Given the description of an element on the screen output the (x, y) to click on. 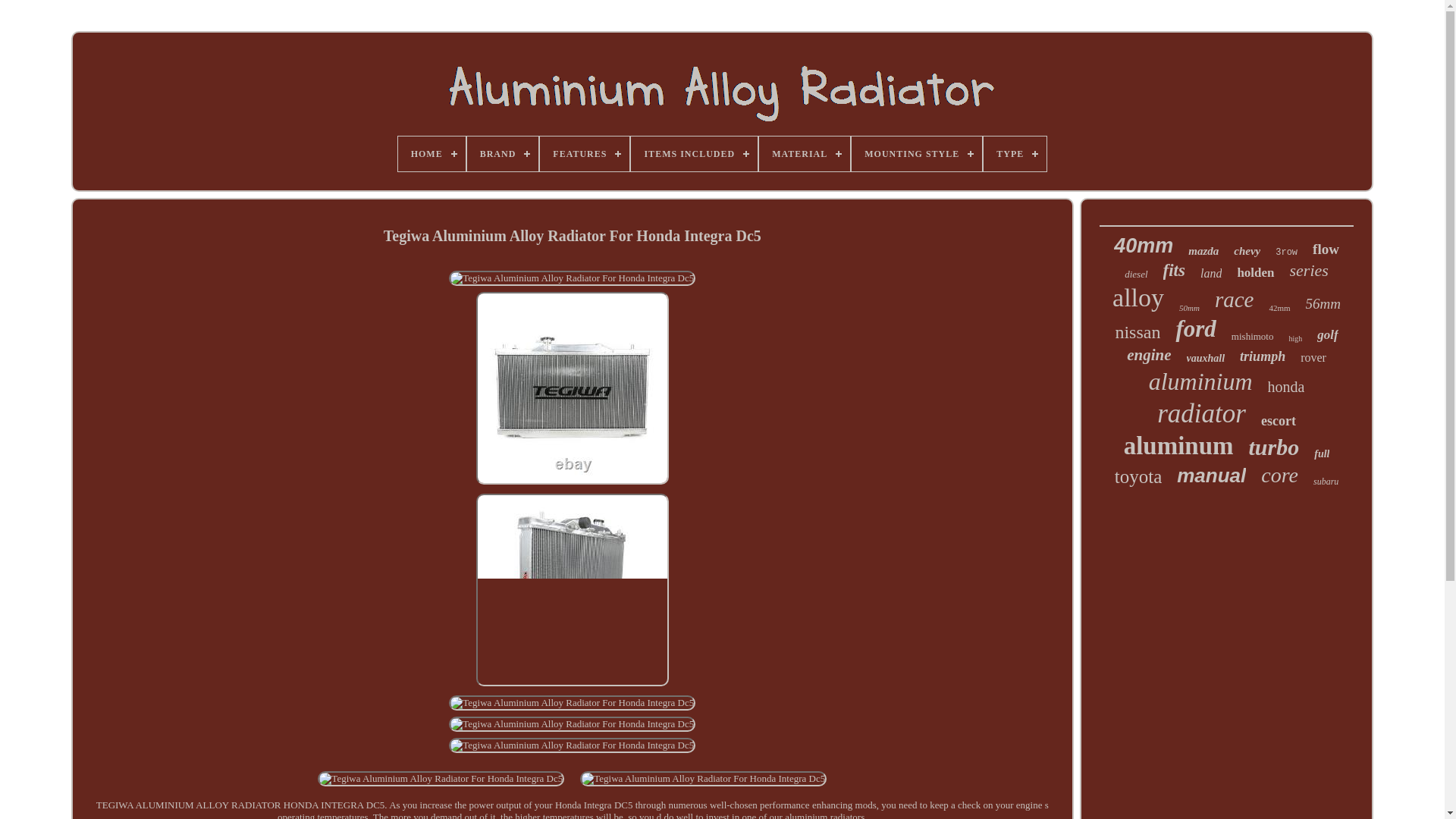
Tegiwa Aluminium Alloy Radiator For Honda Integra Dc5 (571, 744)
FEATURES (584, 153)
Tegiwa Aluminium Alloy Radiator For Honda Integra Dc5 (571, 278)
Tegiwa Aluminium Alloy Radiator For Honda Integra Dc5 (571, 724)
HOME (431, 153)
Tegiwa Aluminium Alloy Radiator For Honda Integra Dc5 (571, 702)
Tegiwa Aluminium Alloy Radiator For Honda Integra Dc5 (703, 778)
Tegiwa Aluminium Alloy Radiator For Honda Integra Dc5 (572, 387)
BRAND (502, 153)
Tegiwa Aluminium Alloy Radiator For Honda Integra Dc5 (572, 589)
